Given the description of an element on the screen output the (x, y) to click on. 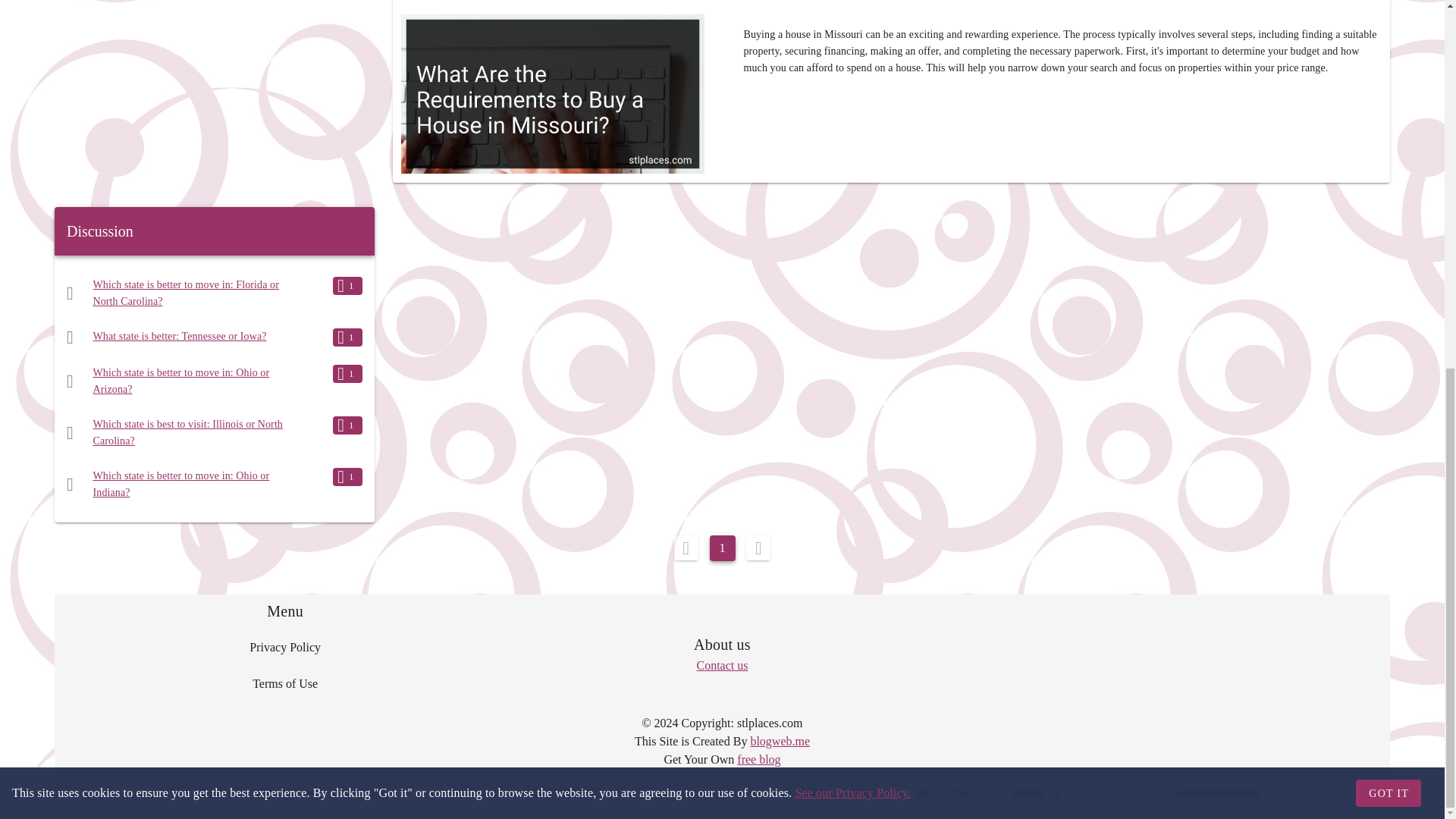
free blog (758, 758)
Which state is better to move in: Ohio or Indiana? (181, 483)
Privacy Policy (284, 647)
Contact us (721, 665)
Which state is better to move in: Ohio or Arizona? (181, 380)
Which state is better to move in: Florida or North Carolina? (186, 293)
1 (722, 548)
Advertisement (214, 97)
Which state is better to move in: Ohio or Indiana? (181, 483)
GOT IT (1388, 126)
See our Privacy Policy. (852, 126)
What state is better: Tennessee or Iowa? (179, 336)
Which state is best to visit: Illinois or North Carolina? (187, 432)
blogweb.me (779, 740)
Which state is better to move in: Florida or North Carolina? (186, 293)
